Given the description of an element on the screen output the (x, y) to click on. 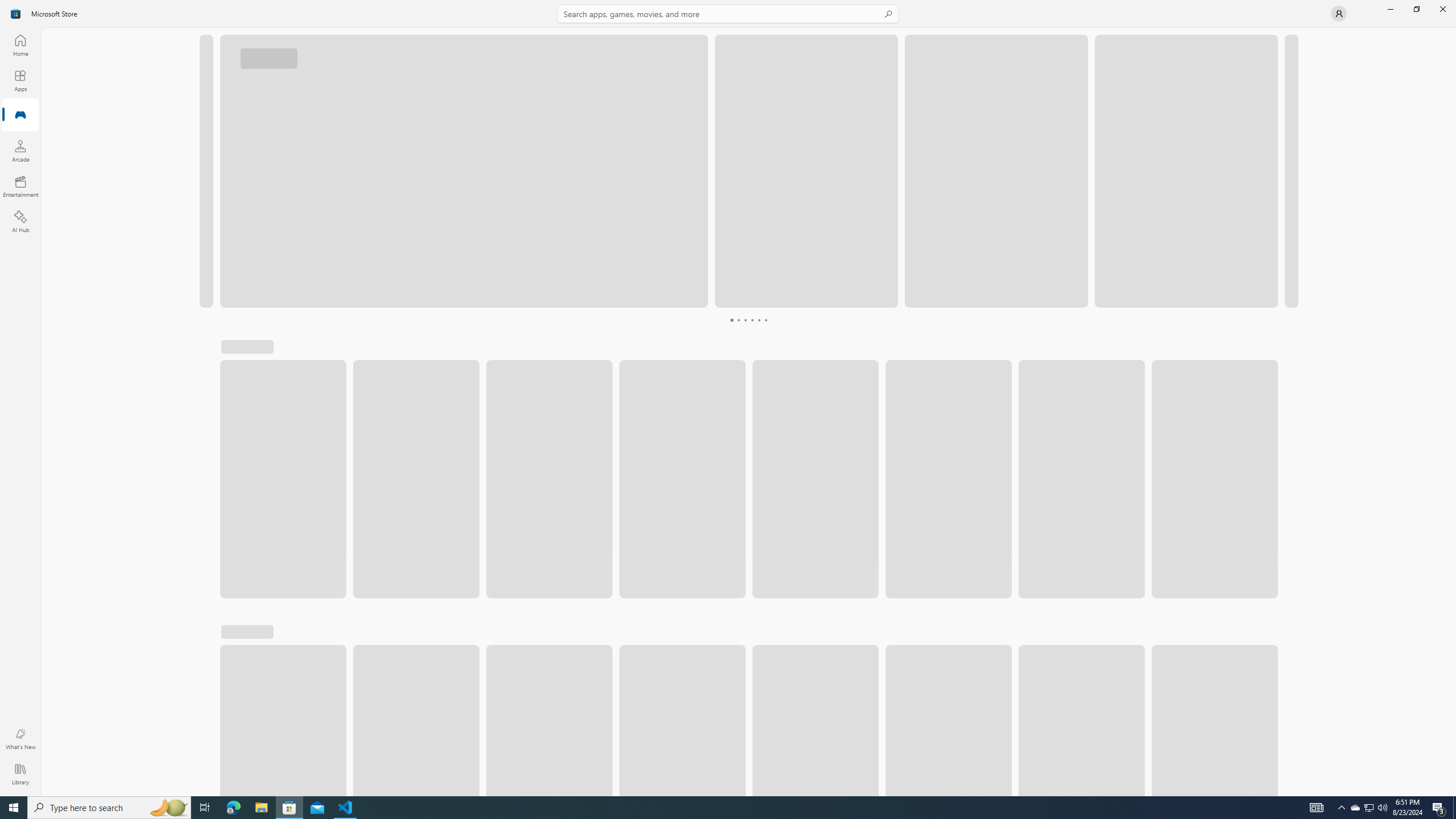
Close Microsoft Store (1442, 9)
Search (727, 13)
Page 2 (724, 319)
AutomationID: NavigationControl (728, 398)
AI Hub (20, 221)
Card & Board (880, 352)
Sports (1228, 352)
Page 3 (731, 319)
Page 7 (758, 319)
Strategy (742, 352)
Platformer (1269, 352)
Restore Microsoft Store (1416, 9)
